Given the description of an element on the screen output the (x, y) to click on. 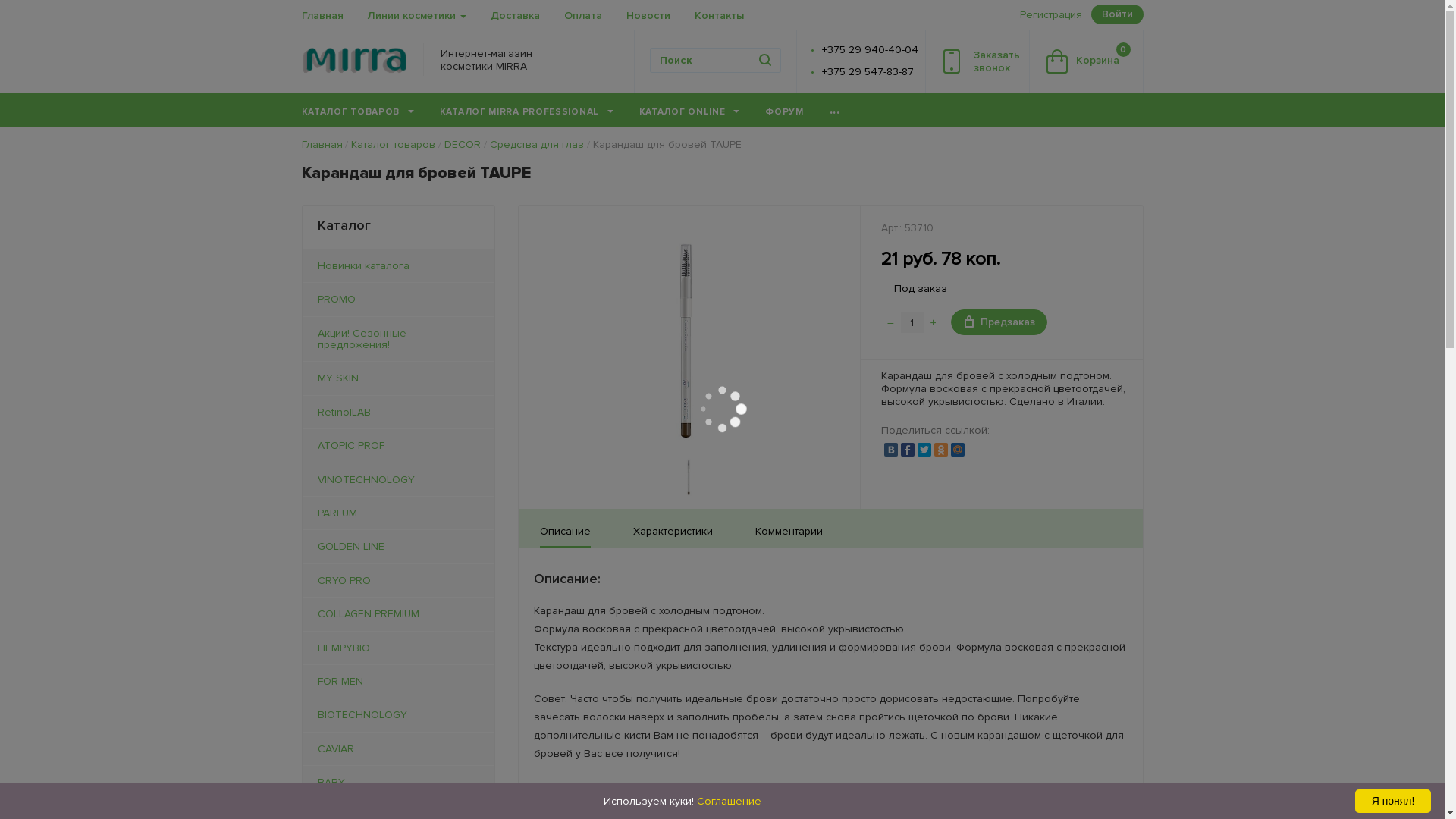
FOR MEN Element type: text (397, 680)
PROMO Element type: text (397, 298)
RetinolLAB Element type: text (397, 411)
BABY Element type: text (397, 781)
PARFUM Element type: text (397, 512)
+375 29 547-83-87 Element type: text (867, 71)
+ Element type: text (933, 321)
DECOR Element type: text (462, 144)
ATOPIC PROF Element type: text (397, 445)
COLLAGEN PREMIUM Element type: text (397, 613)
BIOTECHNOLOGY Element type: text (397, 714)
VINOTECHNOLOGY Element type: text (397, 479)
CRYO PRO Element type: text (397, 580)
+375 29 940-40-04 Element type: text (870, 49)
CAVIAR Element type: text (397, 748)
GOLDEN LINE Element type: text (397, 545)
Twitter Element type: hover (924, 449)
... Element type: text (834, 109)
HEMPYBIO Element type: text (397, 647)
MY SKIN Element type: text (397, 377)
Facebook Element type: hover (907, 449)
